Given the description of an element on the screen output the (x, y) to click on. 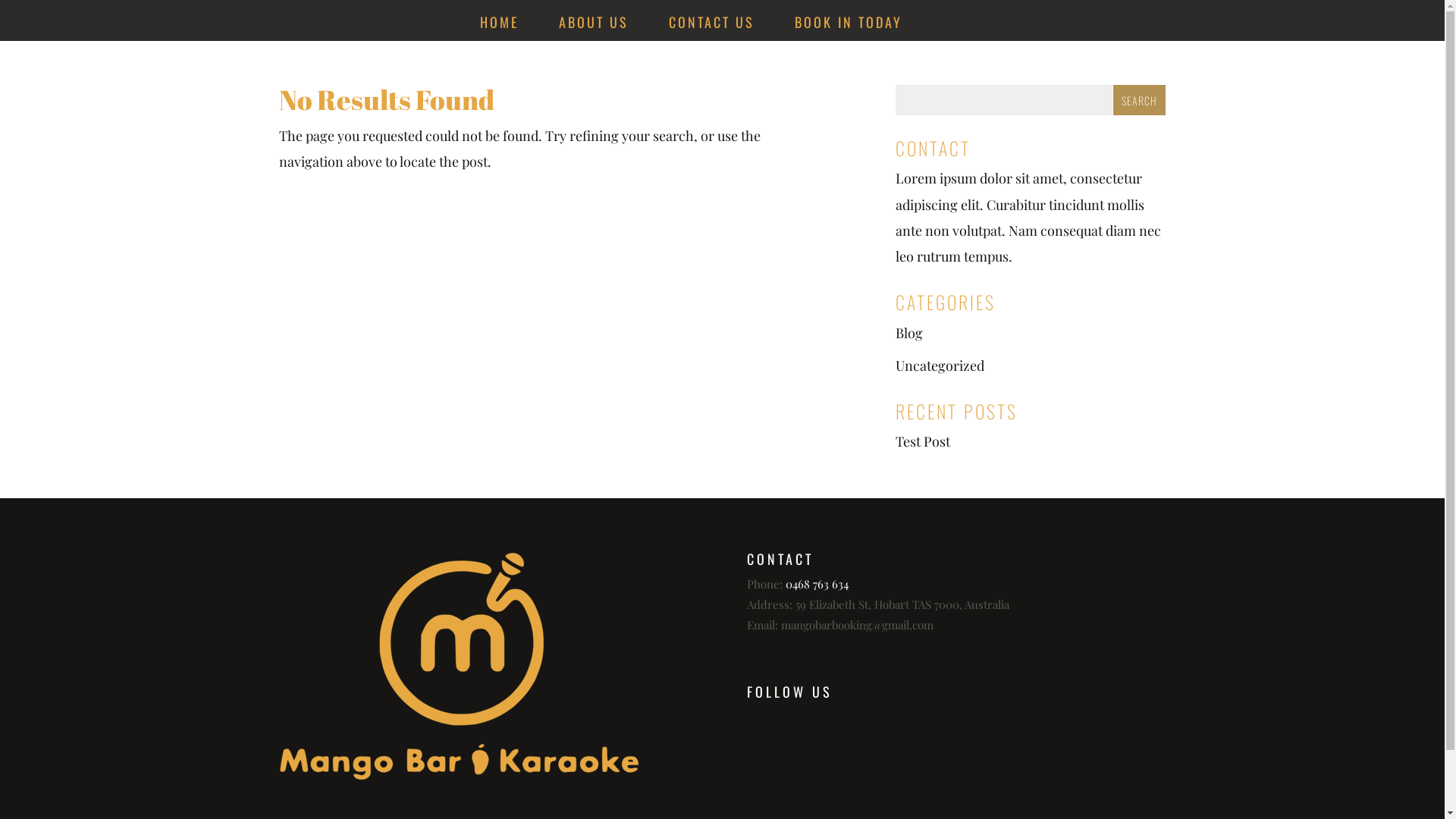
0468 763 634 Element type: text (816, 583)
HOME Element type: text (499, 28)
Blog Element type: text (908, 332)
Test Post Element type: text (922, 441)
CONTACT US Element type: text (711, 28)
Search Element type: text (1138, 99)
BOOK IN TODAY Element type: text (848, 28)
Uncategorized Element type: text (939, 365)
ABOUT US Element type: text (593, 28)
